Given the description of an element on the screen output the (x, y) to click on. 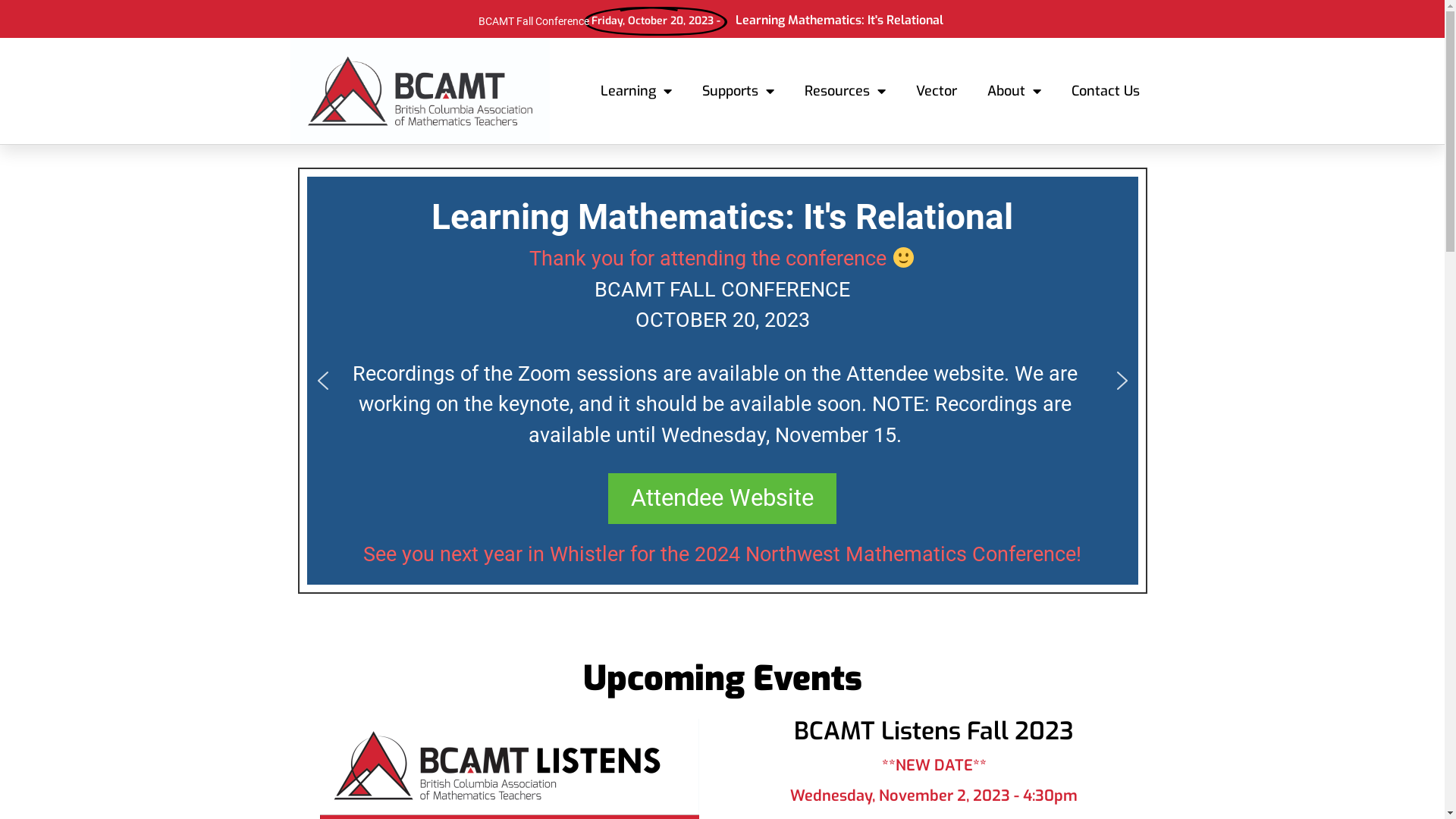
Supports Element type: text (738, 90)
Attendee Website Element type: text (722, 498)
Resources Element type: text (844, 90)
Contact Us Element type: text (1104, 90)
Vector Element type: text (936, 90)
About Element type: text (1014, 90)
Learning Element type: text (636, 90)
